Given the description of an element on the screen output the (x, y) to click on. 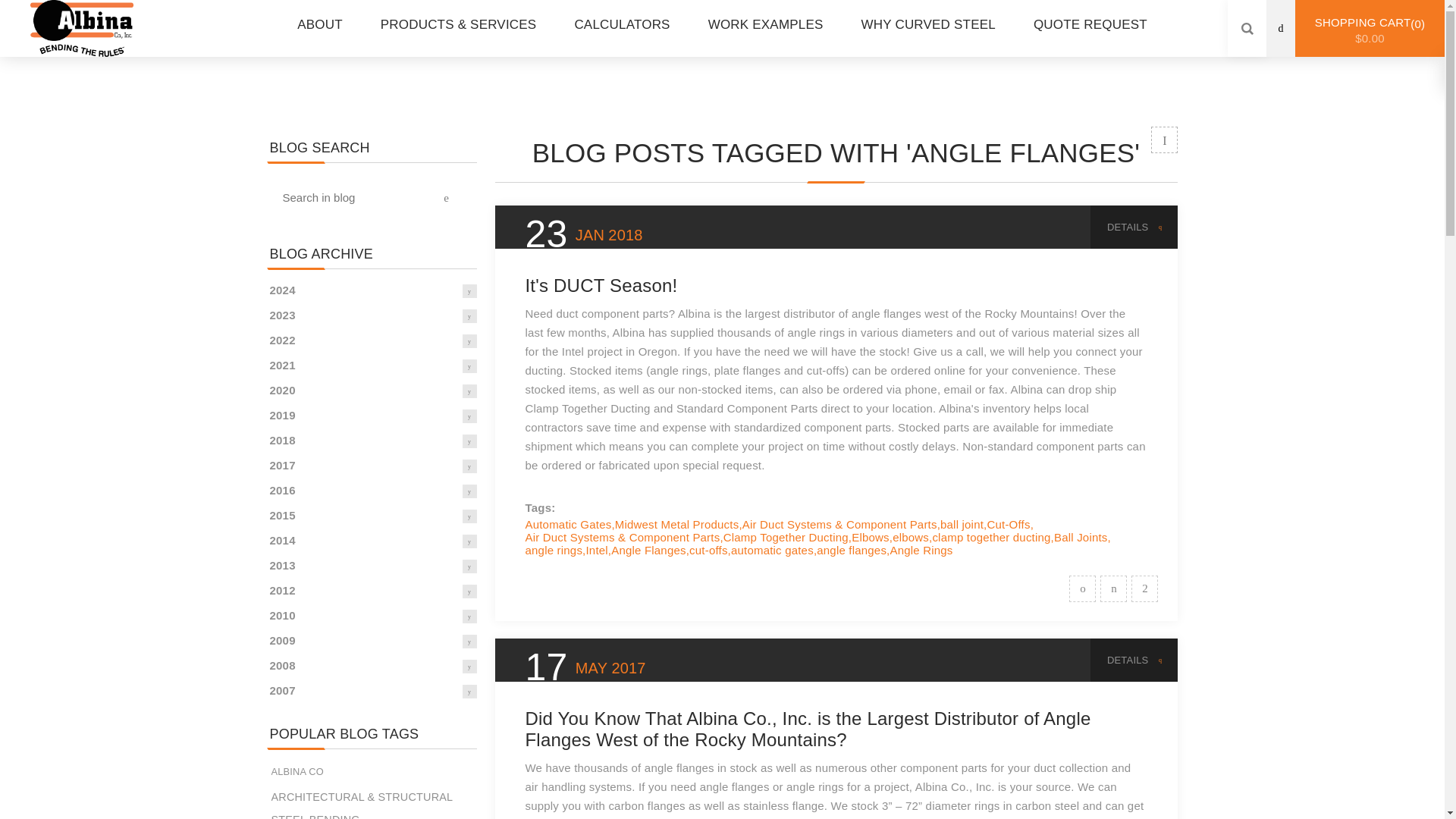
ABOUT (319, 23)
About (319, 23)
